Given the description of an element on the screen output the (x, y) to click on. 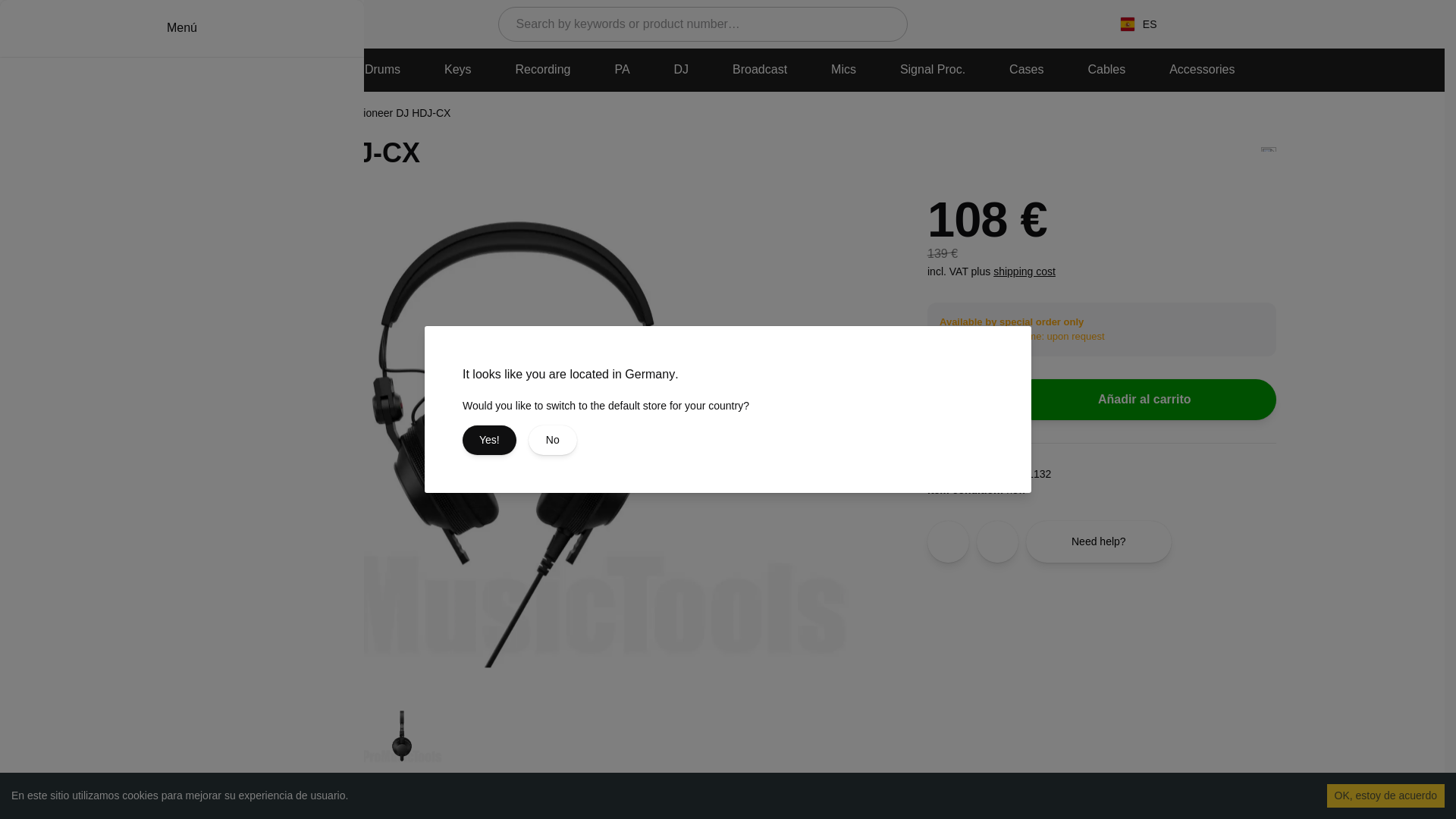
Cables (1106, 69)
ES (1138, 24)
0 (1283, 24)
Open share tab (996, 541)
Cases (1026, 69)
Need help? (1099, 541)
Mics (843, 69)
PA (622, 69)
DJ (681, 69)
Accessories (1201, 69)
